Given the description of an element on the screen output the (x, y) to click on. 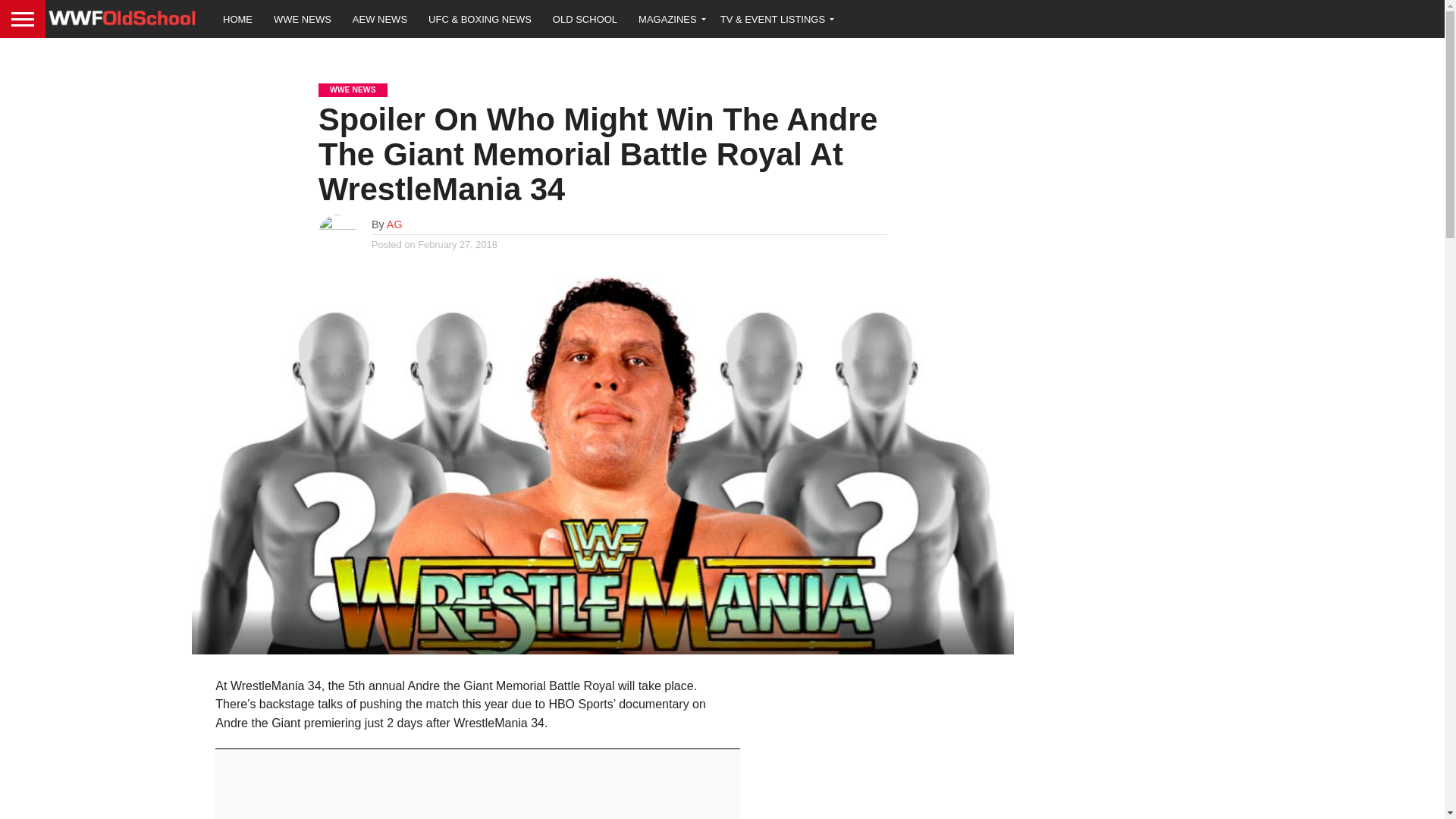
WWE NEWS (302, 18)
OLD SCHOOL (584, 18)
AEW NEWS (379, 18)
MAGAZINES (668, 18)
HOME (237, 18)
Posts by AG (395, 224)
